Given the description of an element on the screen output the (x, y) to click on. 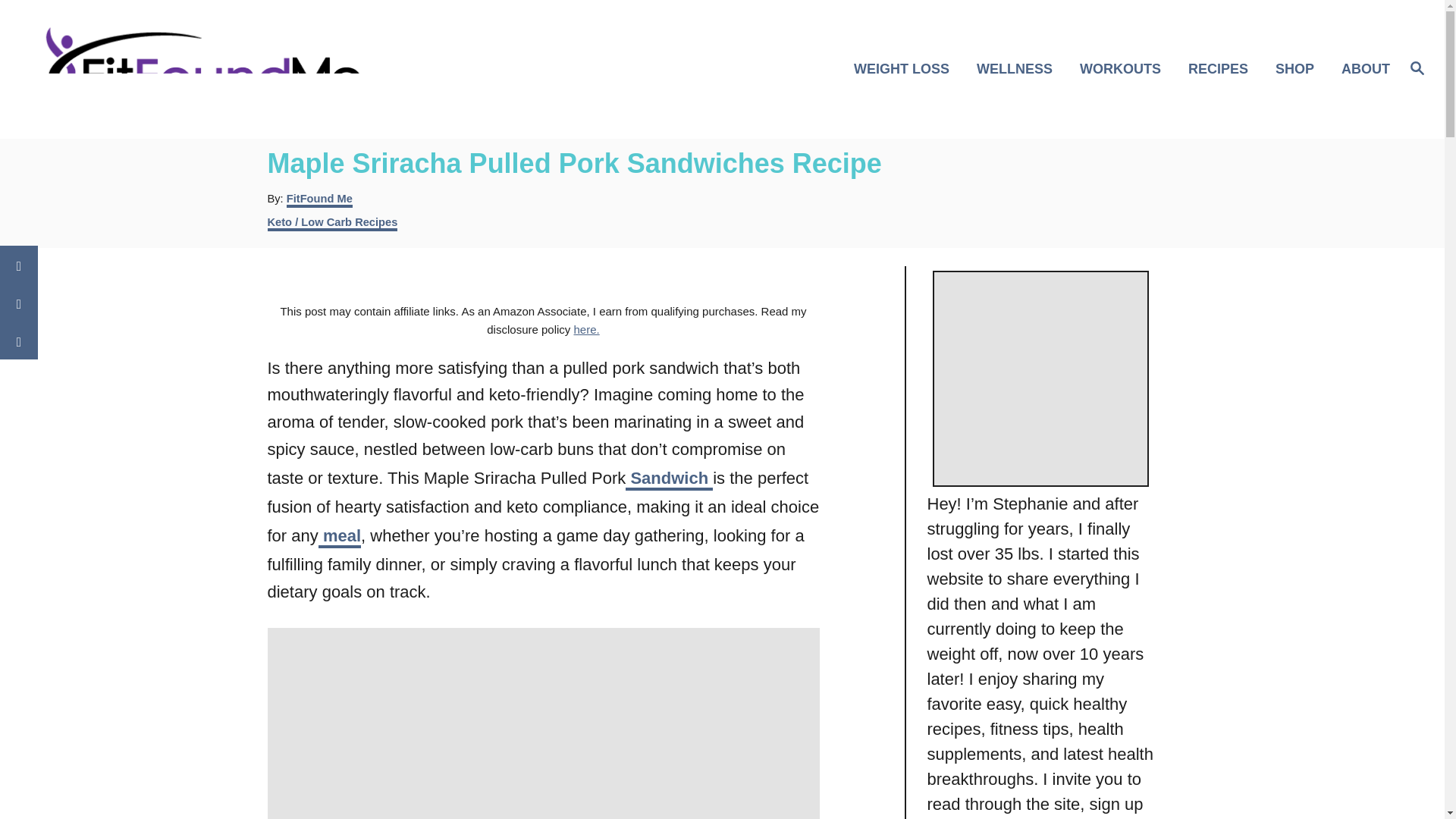
ABOUT (1361, 68)
here. (585, 328)
Fit Found Me (204, 69)
WORKOUTS (1124, 68)
WELLNESS (1019, 68)
SHOP (1299, 68)
RECIPES (1222, 68)
FitFound Me (319, 200)
WEIGHT LOSS (906, 68)
Sandwich (669, 479)
